Given the description of an element on the screen output the (x, y) to click on. 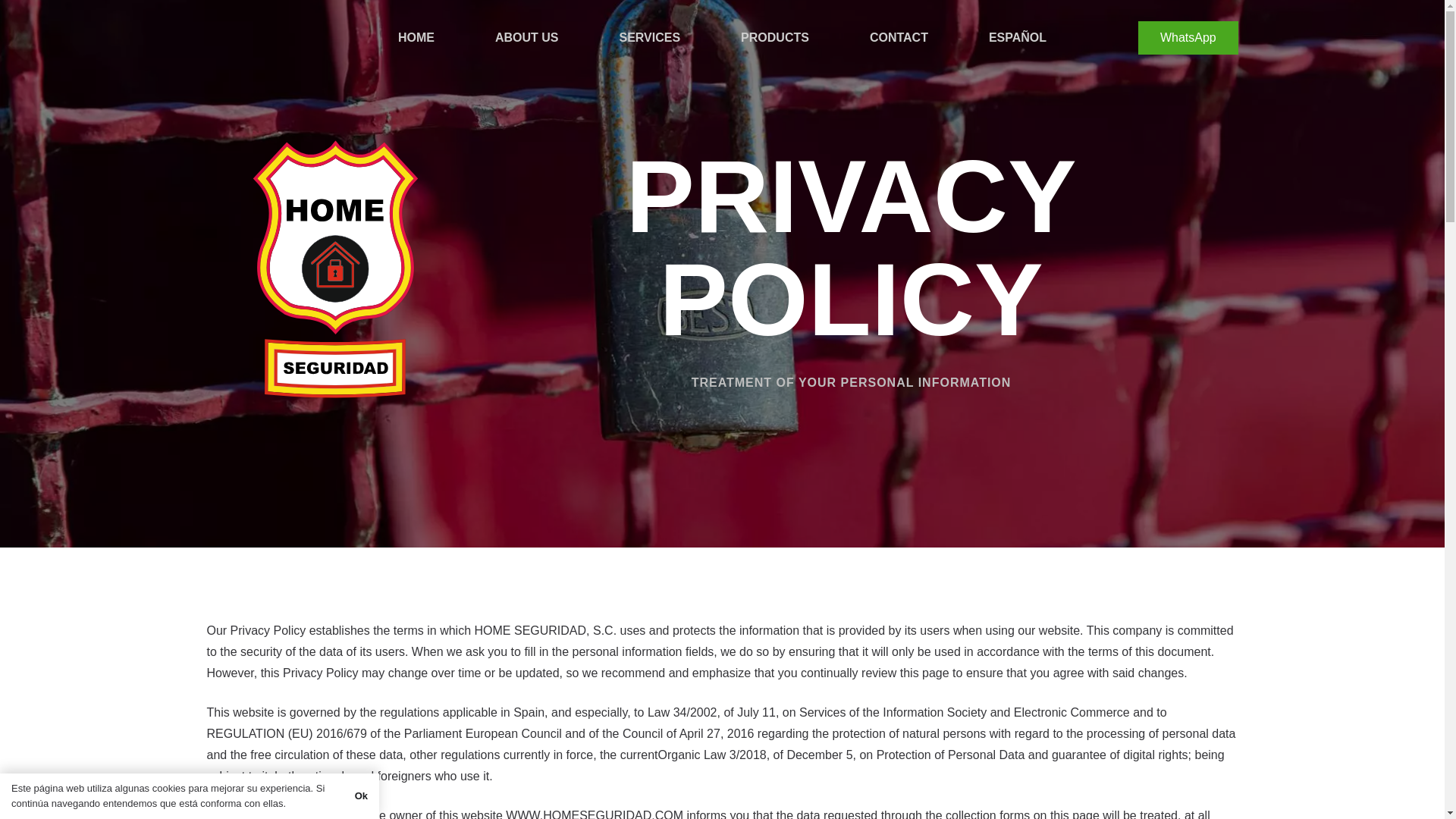
SERVICES (649, 38)
HOME (416, 38)
ABOUT US (526, 38)
CONTACT (899, 38)
Ok (361, 796)
WhatsApp (1187, 38)
PRODUCTS (775, 38)
